Given the description of an element on the screen output the (x, y) to click on. 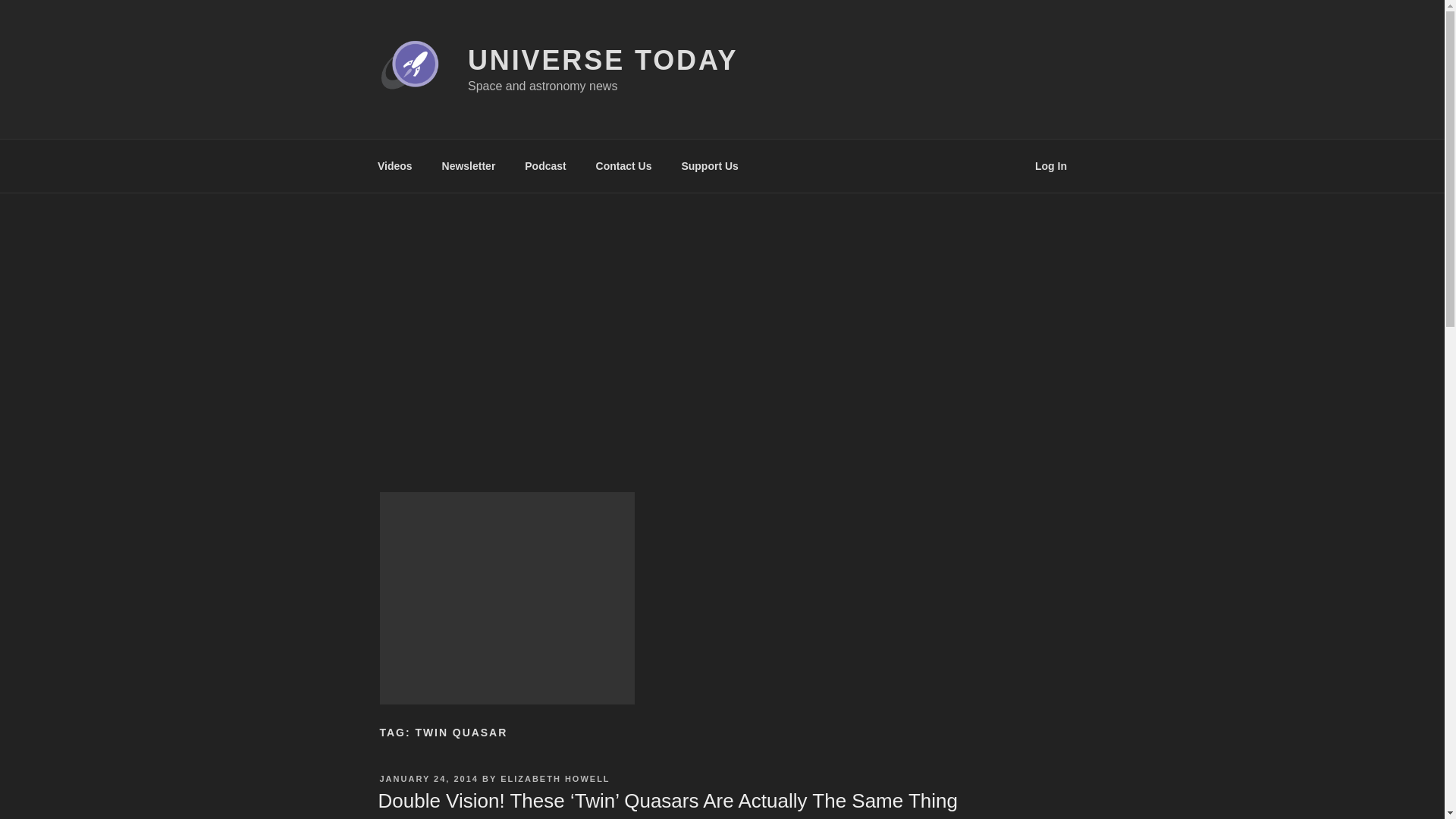
Videos (394, 165)
Contact Us (623, 165)
UNIVERSE TODAY (602, 60)
JANUARY 24, 2014 (427, 777)
ELIZABETH HOWELL (555, 777)
Support Us (709, 165)
Advertisement (505, 598)
Newsletter (468, 165)
Podcast (545, 165)
Log In (1051, 165)
